Given the description of an element on the screen output the (x, y) to click on. 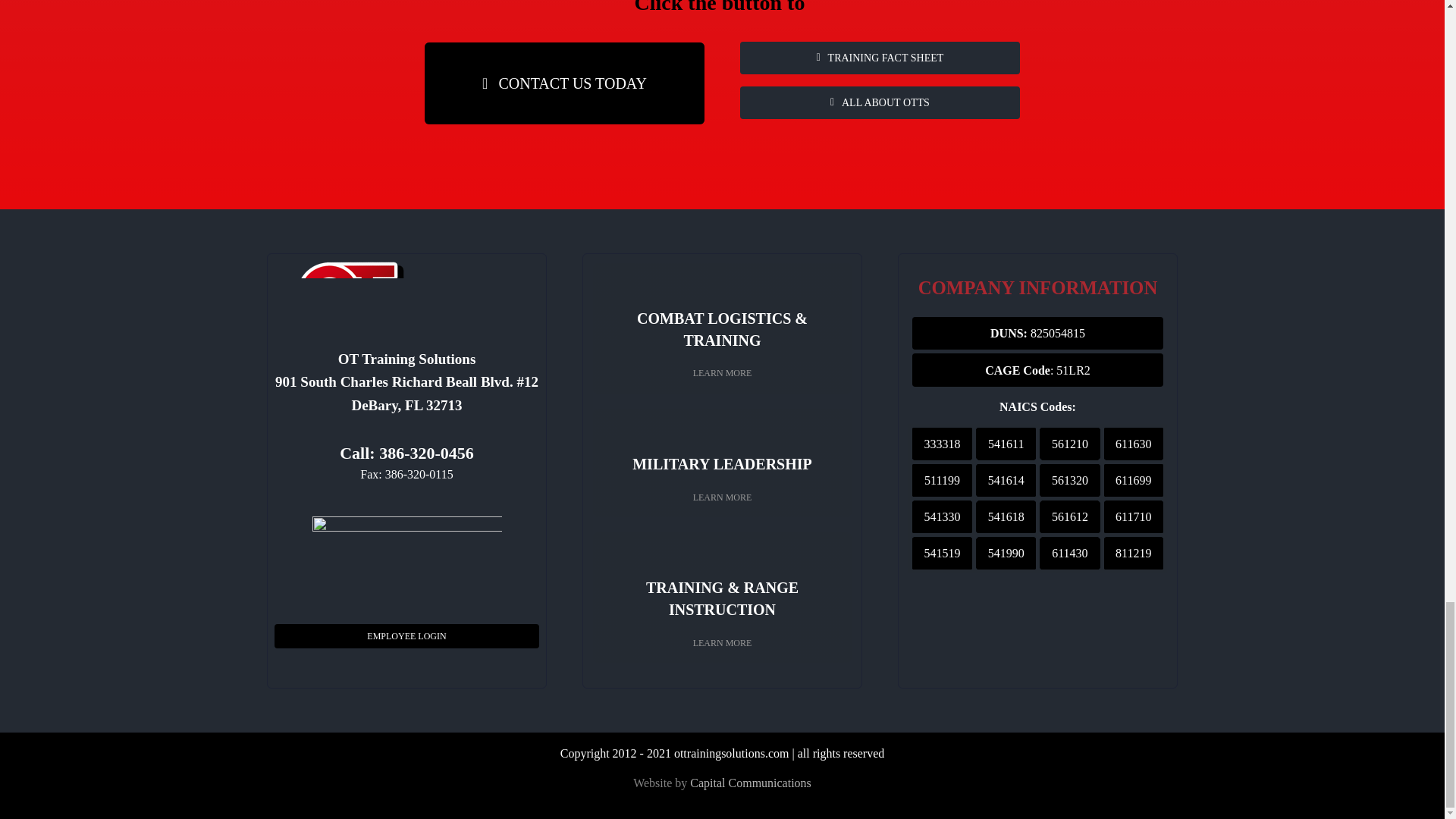
TRAINING FACT SHEET (879, 57)
LEARN MORE (722, 372)
386-320-0456 (426, 452)
Asset 1vosb (407, 560)
Capital Communications (750, 782)
LEARN MORE (722, 496)
ALL ABOUT OTTS (879, 102)
EMPLOYEE LOGIN (406, 636)
CONTACT US TODAY (564, 83)
LEARN MORE (722, 642)
